Given the description of an element on the screen output the (x, y) to click on. 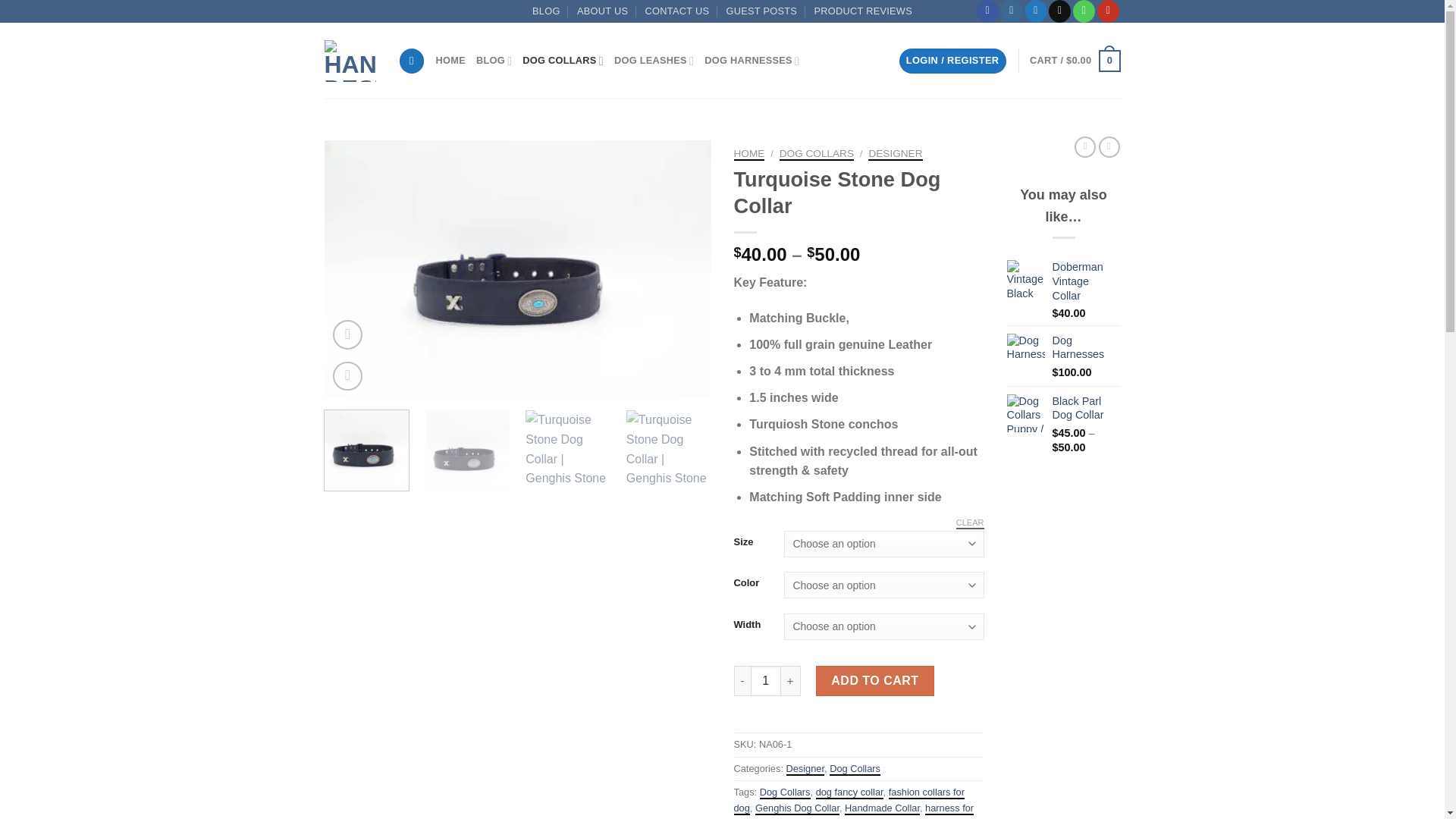
Call us (1083, 11)
1 (765, 680)
Turquoise Stone Dog Collar (904, 269)
CONTACT US (677, 11)
Follow on Twitter (1035, 11)
BLOG (546, 11)
Cart (1074, 61)
DOG LEASHES (654, 60)
Turquoise Stone Dog Collar (517, 269)
Follow on Facebook (987, 11)
